Given the description of an element on the screen output the (x, y) to click on. 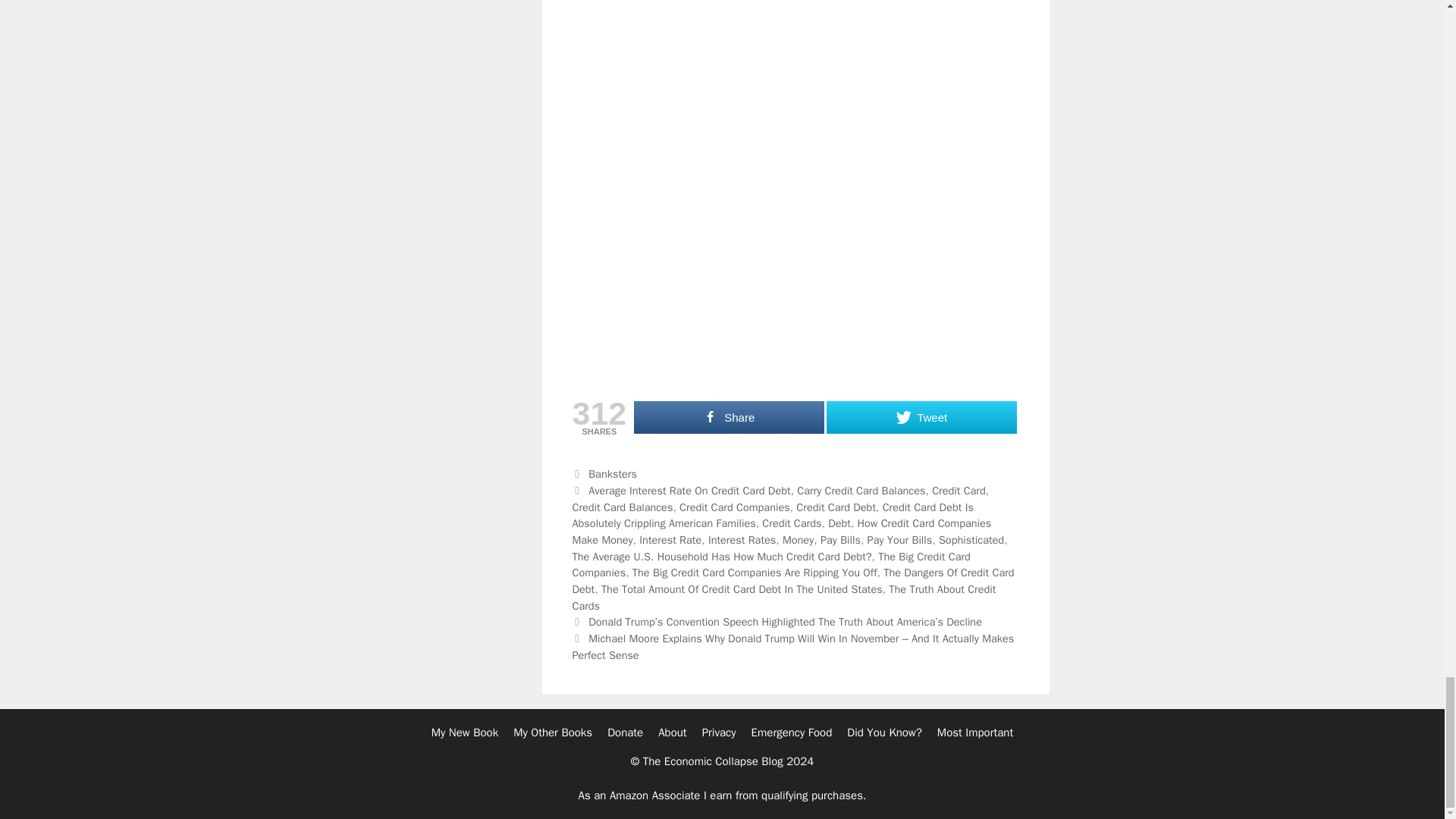
Average Interest Rate On Credit Card Debt (689, 490)
The Average U.S. Household Has How Much Credit Card Debt? (721, 556)
How Credit Card Companies Make Money (781, 531)
The Total Amount Of Credit Card Debt In The United States (741, 589)
Credit Card Debt Is Absolutely Crippling American Families (772, 515)
Credit Card (958, 490)
The Big Credit Card Companies (770, 564)
Credit Card Balances (622, 507)
Debt (839, 522)
Previous (776, 621)
Carry Credit Card Balances (860, 490)
Credit Card Debt (836, 507)
Sophisticated (971, 540)
Banksters (612, 473)
Tweet (921, 417)
